Given the description of an element on the screen output the (x, y) to click on. 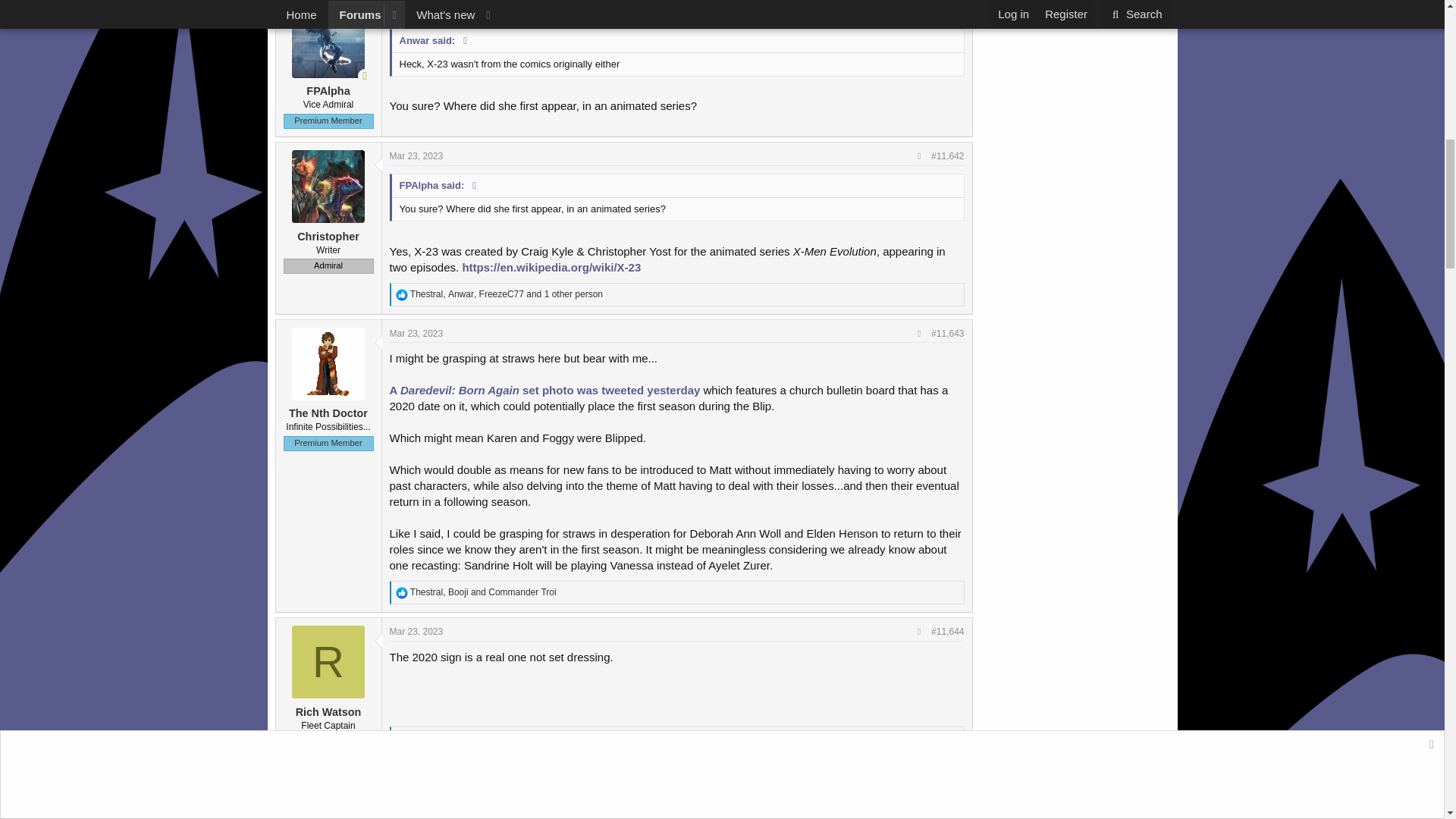
Mar 23, 2023 at 8:24 PM (417, 333)
Mar 23, 2023 at 10:22 PM (417, 631)
Mar 23, 2023 at 12:25 PM (417, 10)
Mar 23, 2023 at 12:30 PM (417, 155)
Like (401, 738)
Like (401, 592)
Mar 24, 2023 at 1:50 AM (417, 777)
Like (401, 295)
